Given the description of an element on the screen output the (x, y) to click on. 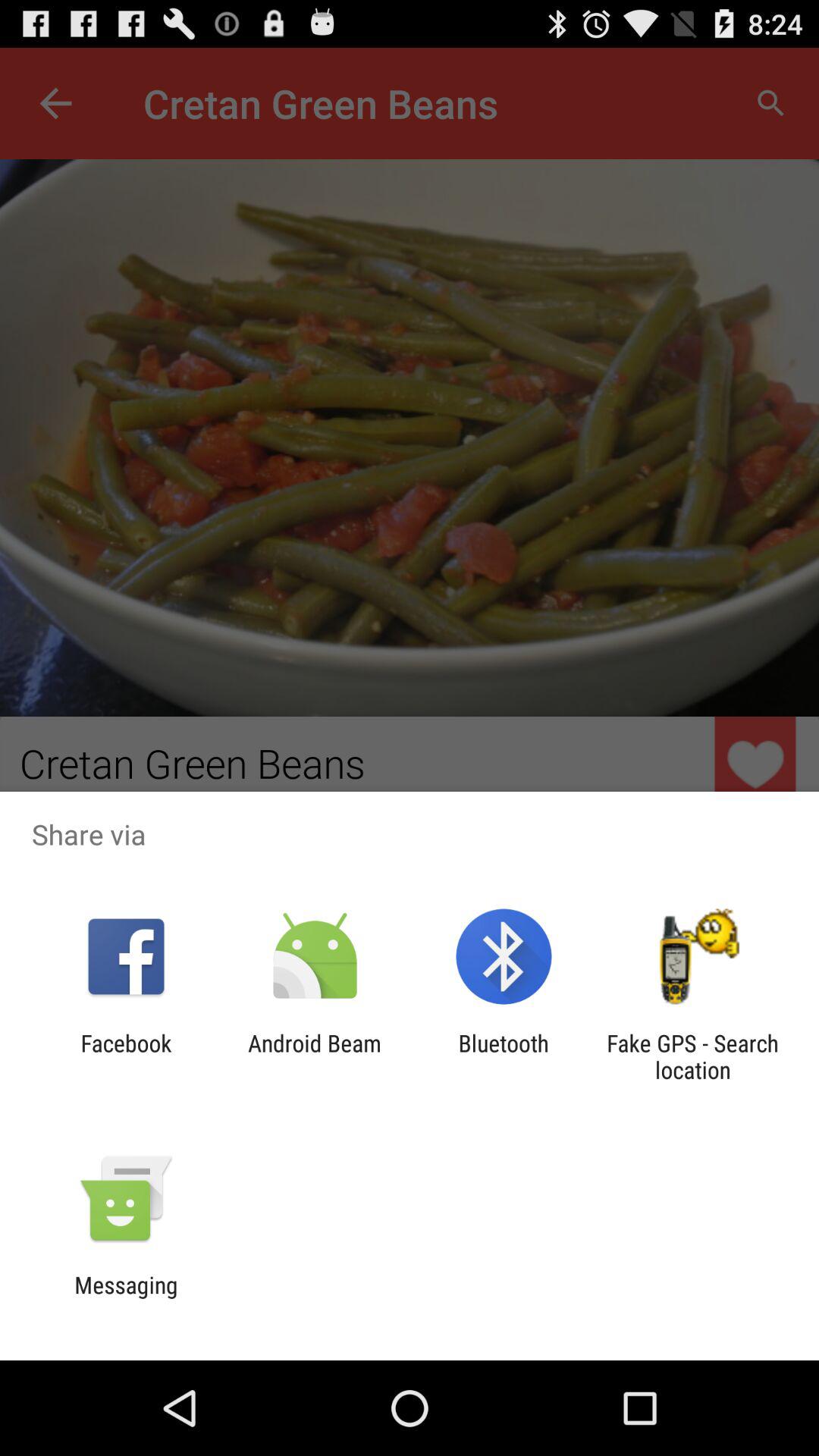
turn on icon to the right of bluetooth app (692, 1056)
